Given the description of an element on the screen output the (x, y) to click on. 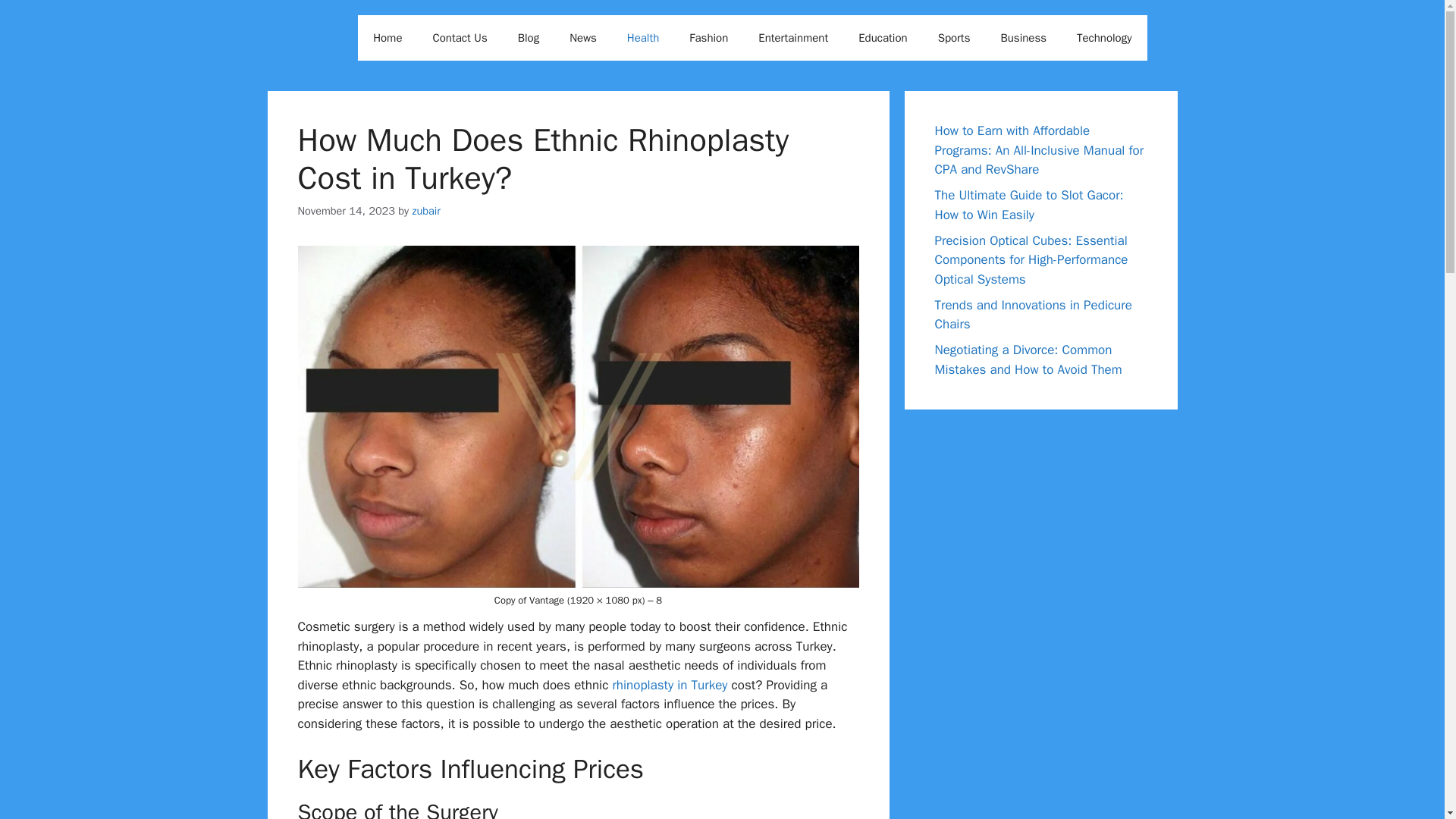
News (582, 37)
rhinoplasty in Turkey (667, 684)
Entertainment (792, 37)
Business (1023, 37)
Trends and Innovations in Pedicure Chairs (1032, 314)
Technology (1104, 37)
Education (882, 37)
Fashion (708, 37)
Contact Us (459, 37)
Blog (528, 37)
View all posts by zubair (425, 210)
Home (387, 37)
zubair (425, 210)
